Given the description of an element on the screen output the (x, y) to click on. 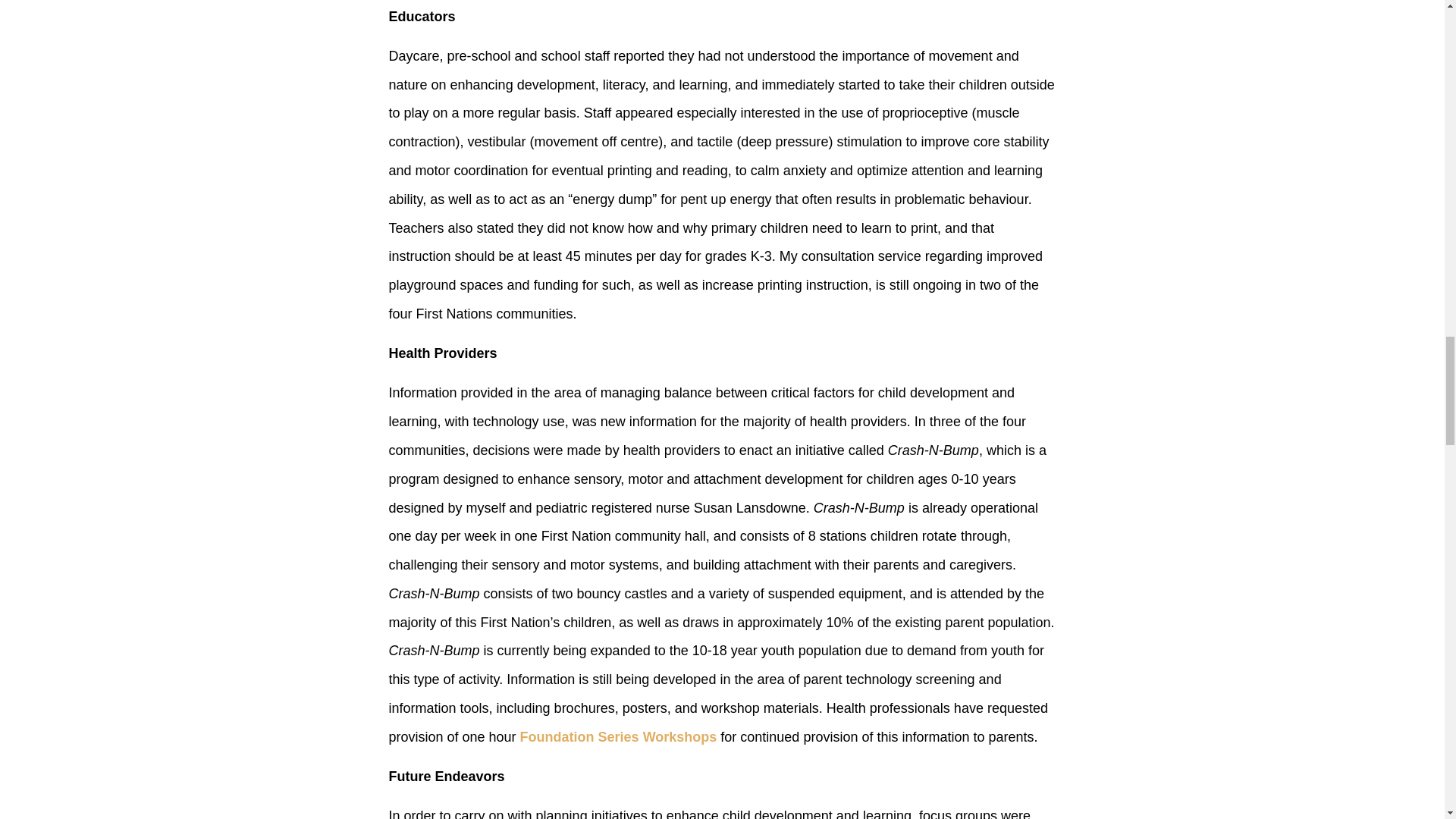
Foundation Series Workshops (618, 736)
